Given the description of an element on the screen output the (x, y) to click on. 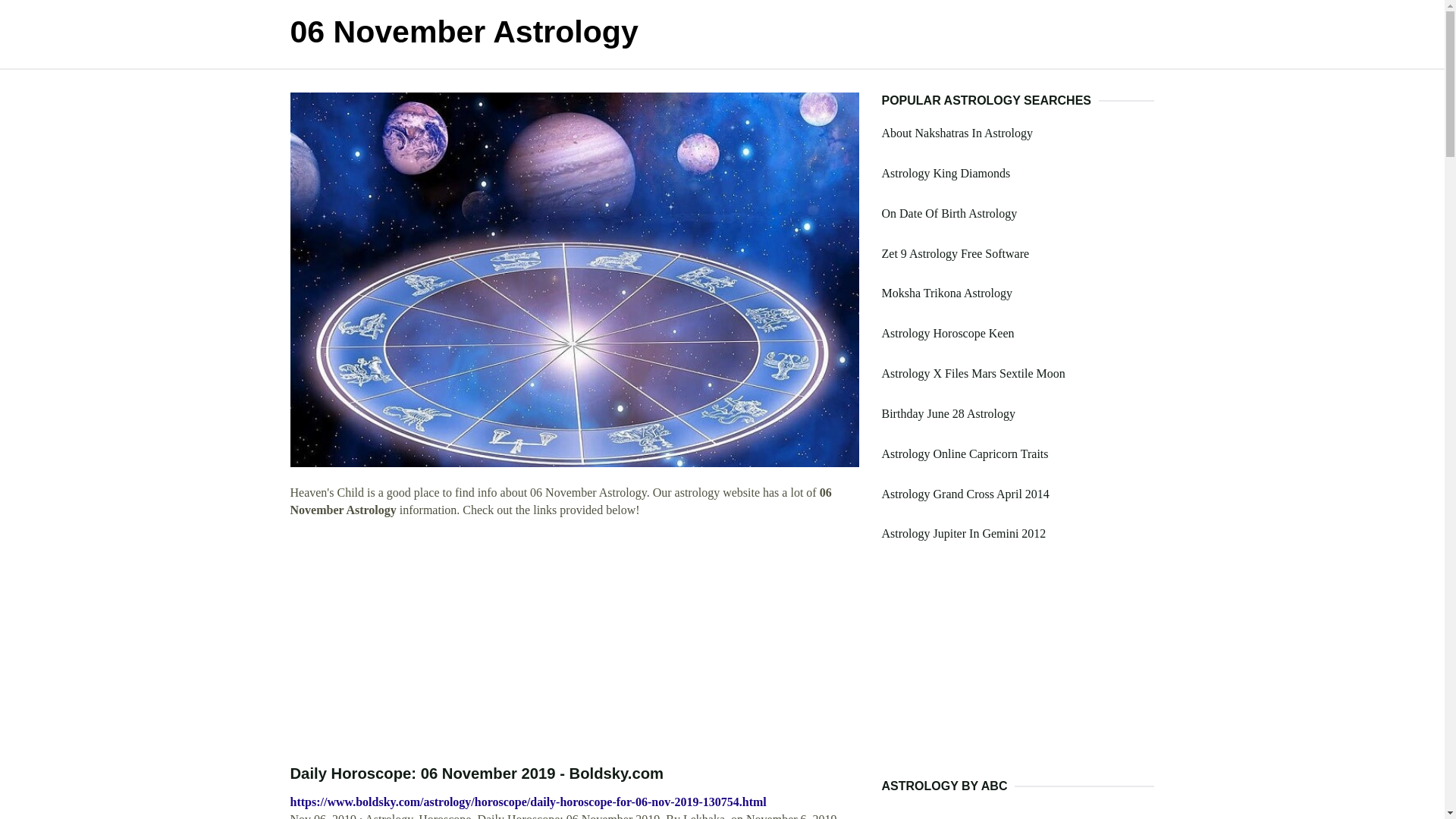
Daily Horoscope: 06 November 2019 - Boldsky.com (476, 773)
Moksha Trikona Astrology (945, 292)
Astrology Horoscope Keen (946, 332)
On Date Of Birth Astrology (948, 213)
Advertisement (574, 642)
Advertisement (1017, 671)
Zet 9 Astrology Free Software (954, 253)
Astrology King Diamonds (945, 173)
Astrology Online Capricorn Traits (964, 453)
Birthday June 28 Astrology (947, 413)
About Nakshatras In Astrology (956, 132)
Astrology X Files Mars Sextile Moon (972, 373)
